Given the description of an element on the screen output the (x, y) to click on. 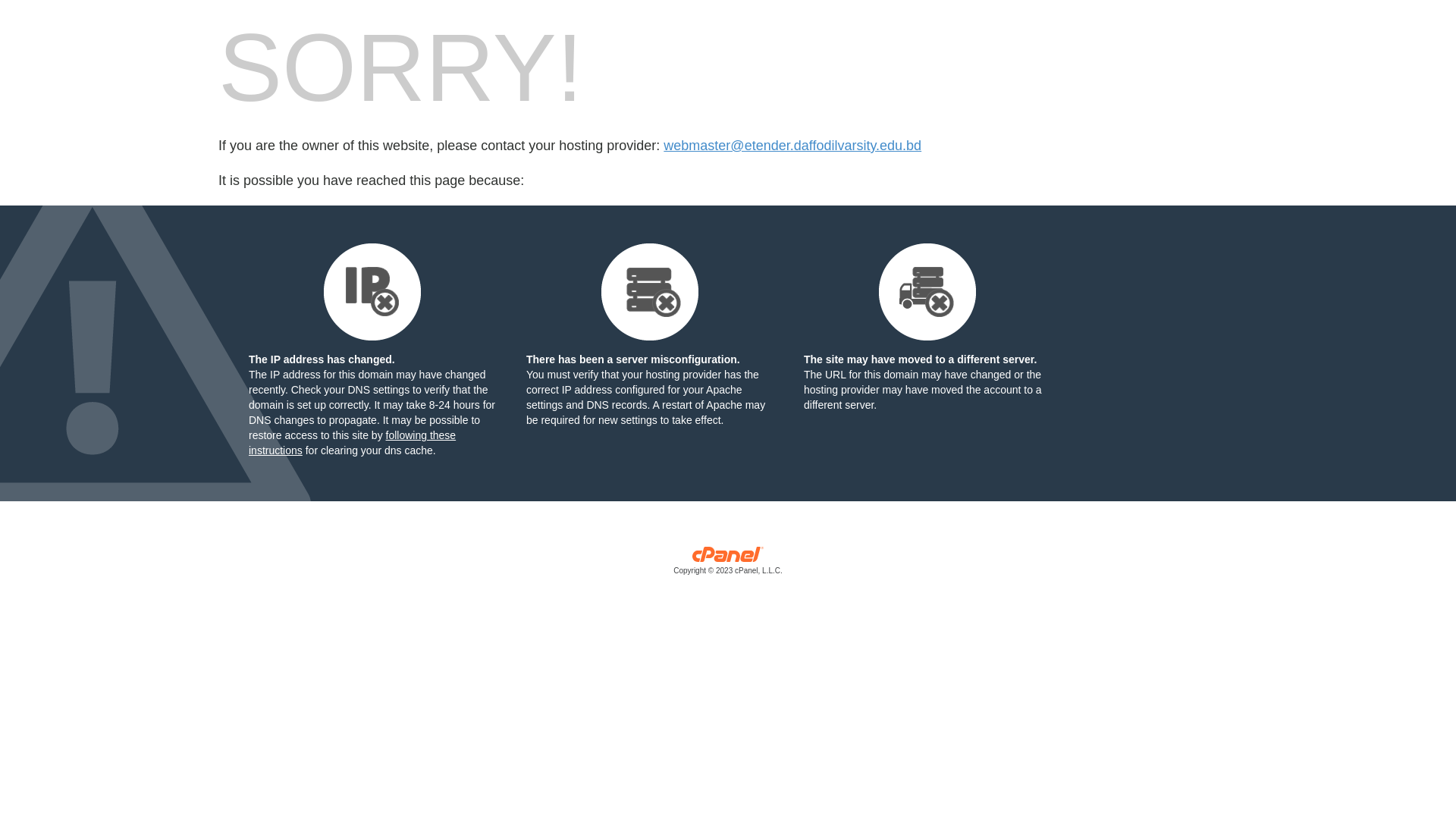
following these instructions Element type: text (351, 442)
webmaster@etender.daffodilvarsity.edu.bd Element type: text (792, 145)
